Given the description of an element on the screen output the (x, y) to click on. 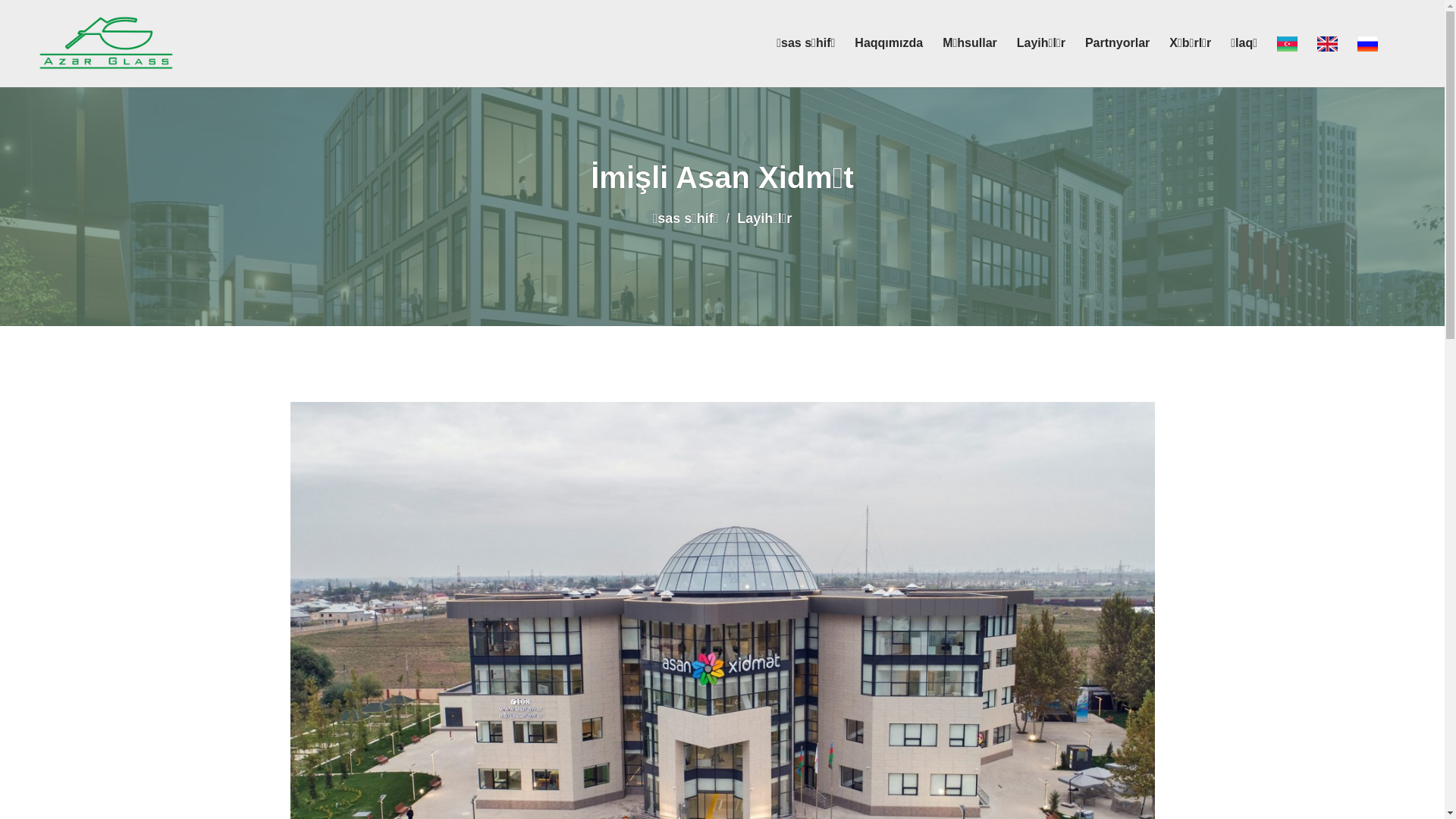
Partnyorlar Element type: text (1117, 42)
